Given the description of an element on the screen output the (x, y) to click on. 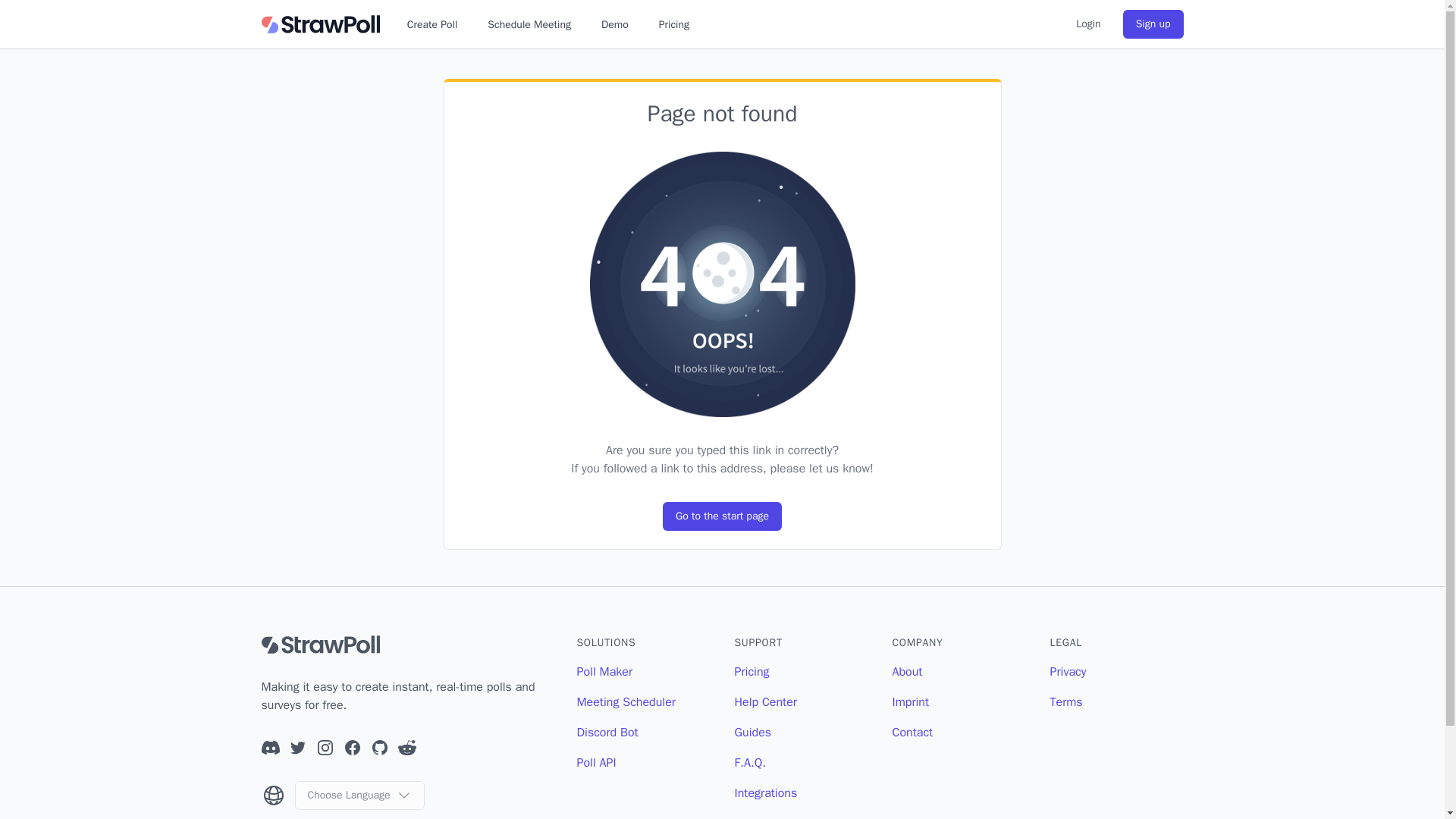
Poll Maker (603, 671)
Sign up (1152, 23)
Facebook (351, 747)
Create Poll (432, 24)
Instagram (324, 747)
Twitter (296, 747)
Meeting Scheduler (625, 702)
Reddit (405, 747)
GitHub (378, 747)
Poll API (595, 762)
